Given the description of an element on the screen output the (x, y) to click on. 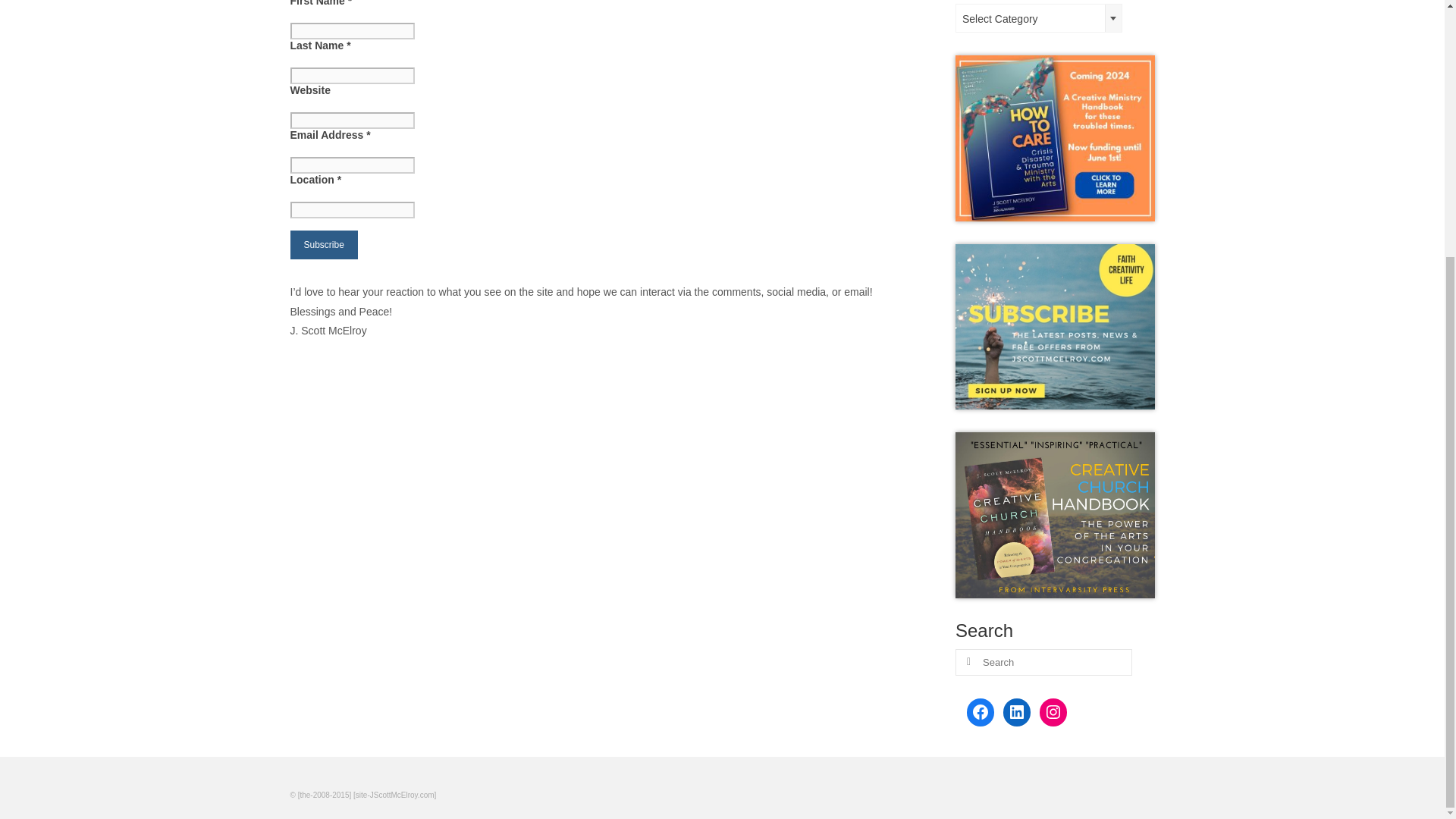
Select Category (1038, 18)
Instagram (1053, 711)
Subscribe (322, 244)
Subscribe (322, 244)
Facebook (980, 711)
LinkedIn (1016, 711)
